Given the description of an element on the screen output the (x, y) to click on. 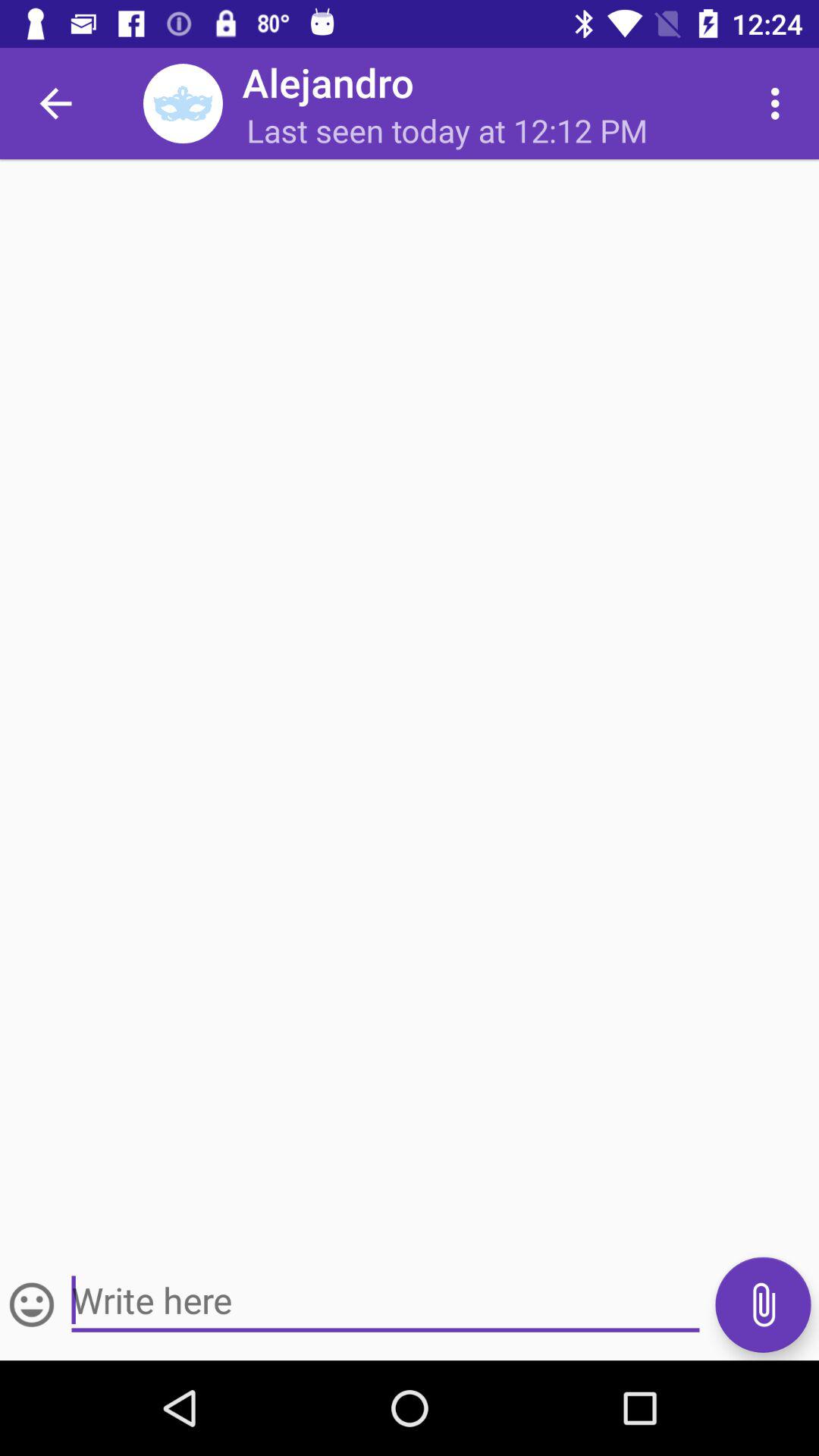
add attachment (763, 1304)
